Given the description of an element on the screen output the (x, y) to click on. 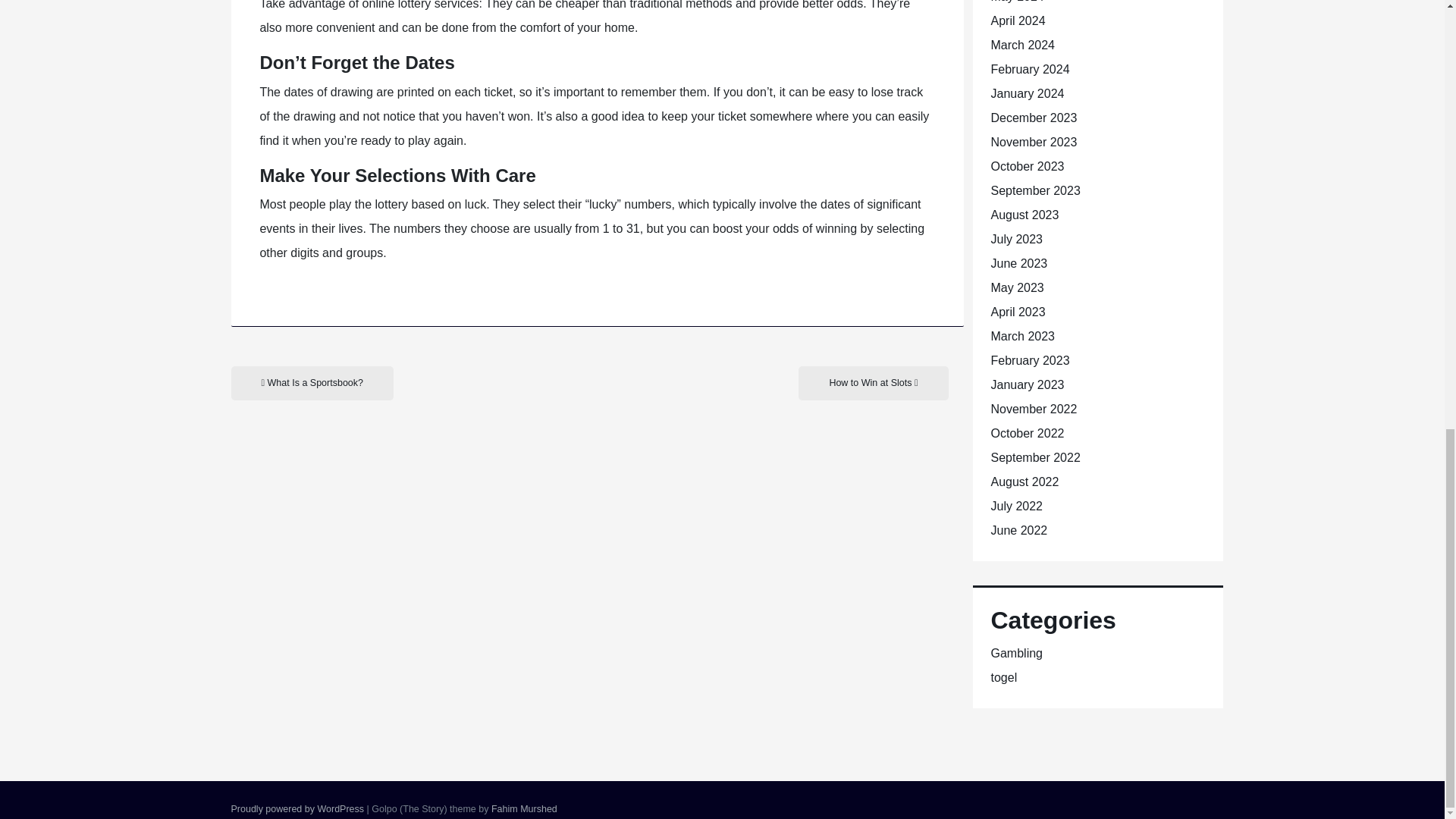
December 2023 (1033, 117)
October 2022 (1027, 432)
March 2023 (1022, 336)
August 2023 (1024, 214)
July 2023 (1016, 238)
What Is a Sportsbook? (311, 383)
April 2023 (1017, 311)
March 2024 (1022, 44)
September 2023 (1035, 190)
How to Win at Slots (872, 383)
